Given the description of an element on the screen output the (x, y) to click on. 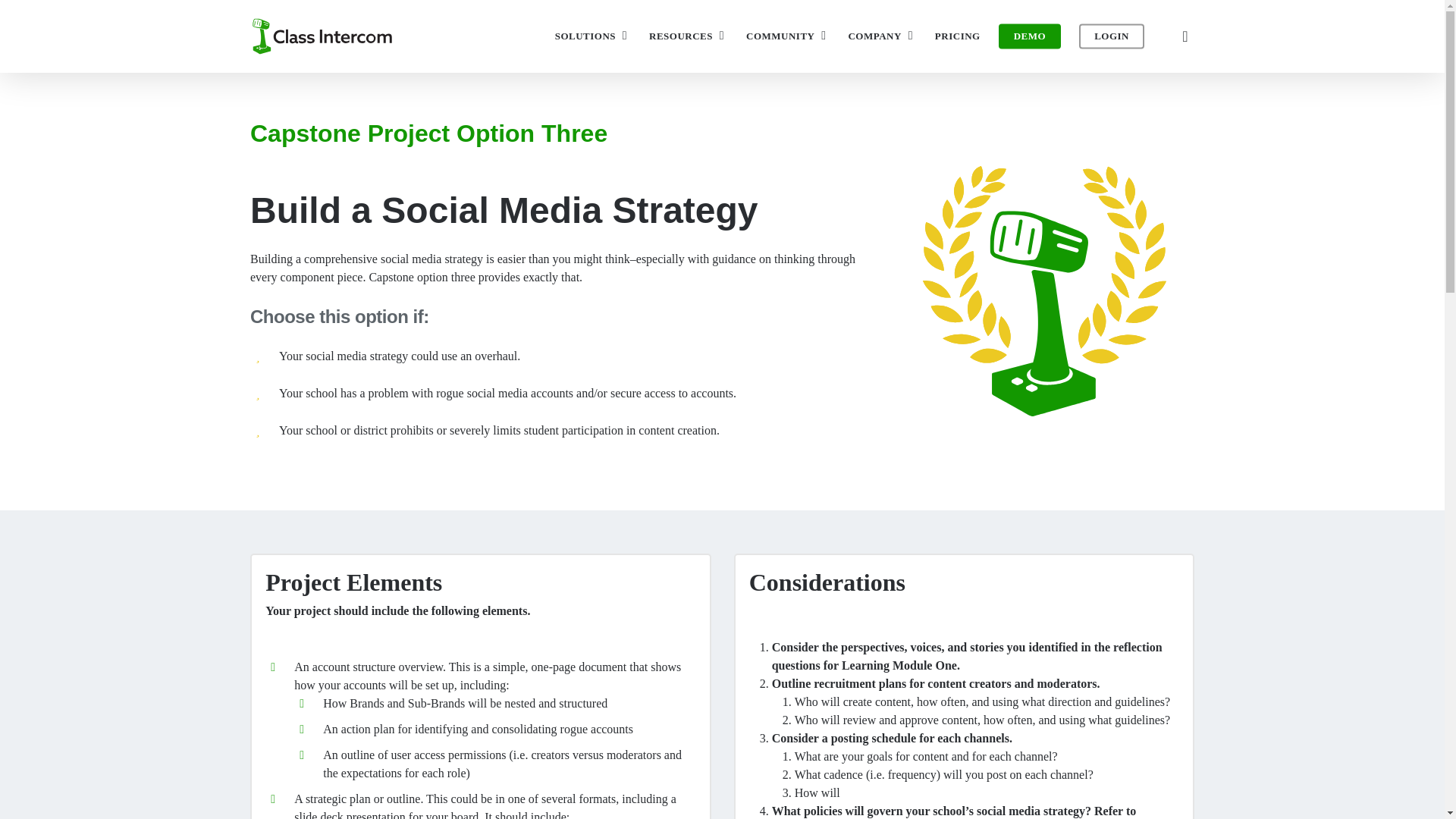
search (1184, 36)
LOGIN (1111, 36)
RESOURCES (688, 36)
PRICING (956, 36)
SOLUTIONS (592, 36)
COMMUNITY (787, 36)
DEMO (1029, 36)
COMPANY (881, 36)
